Given the description of an element on the screen output the (x, y) to click on. 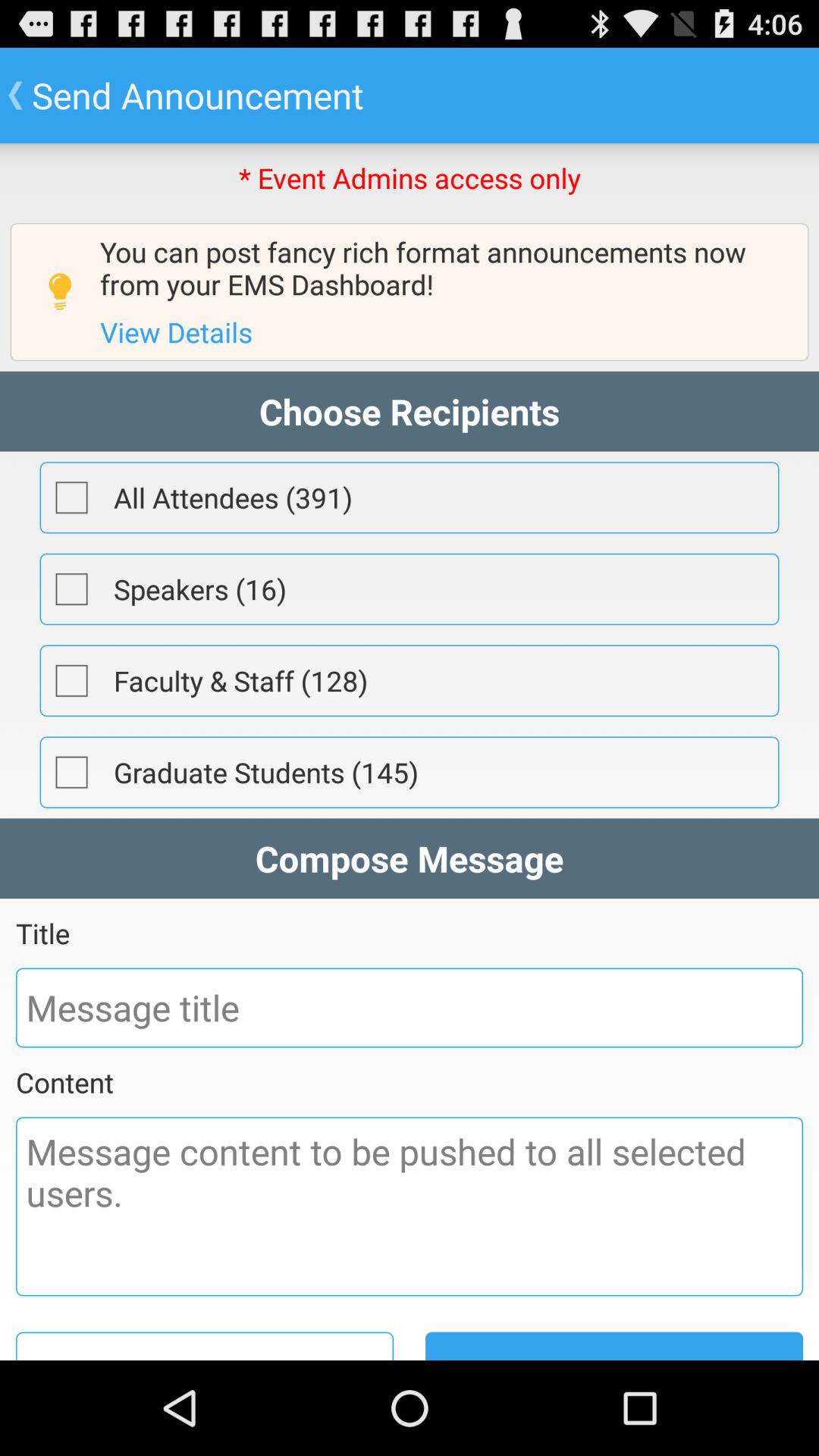
flip until the view details (176, 331)
